Given the description of an element on the screen output the (x, y) to click on. 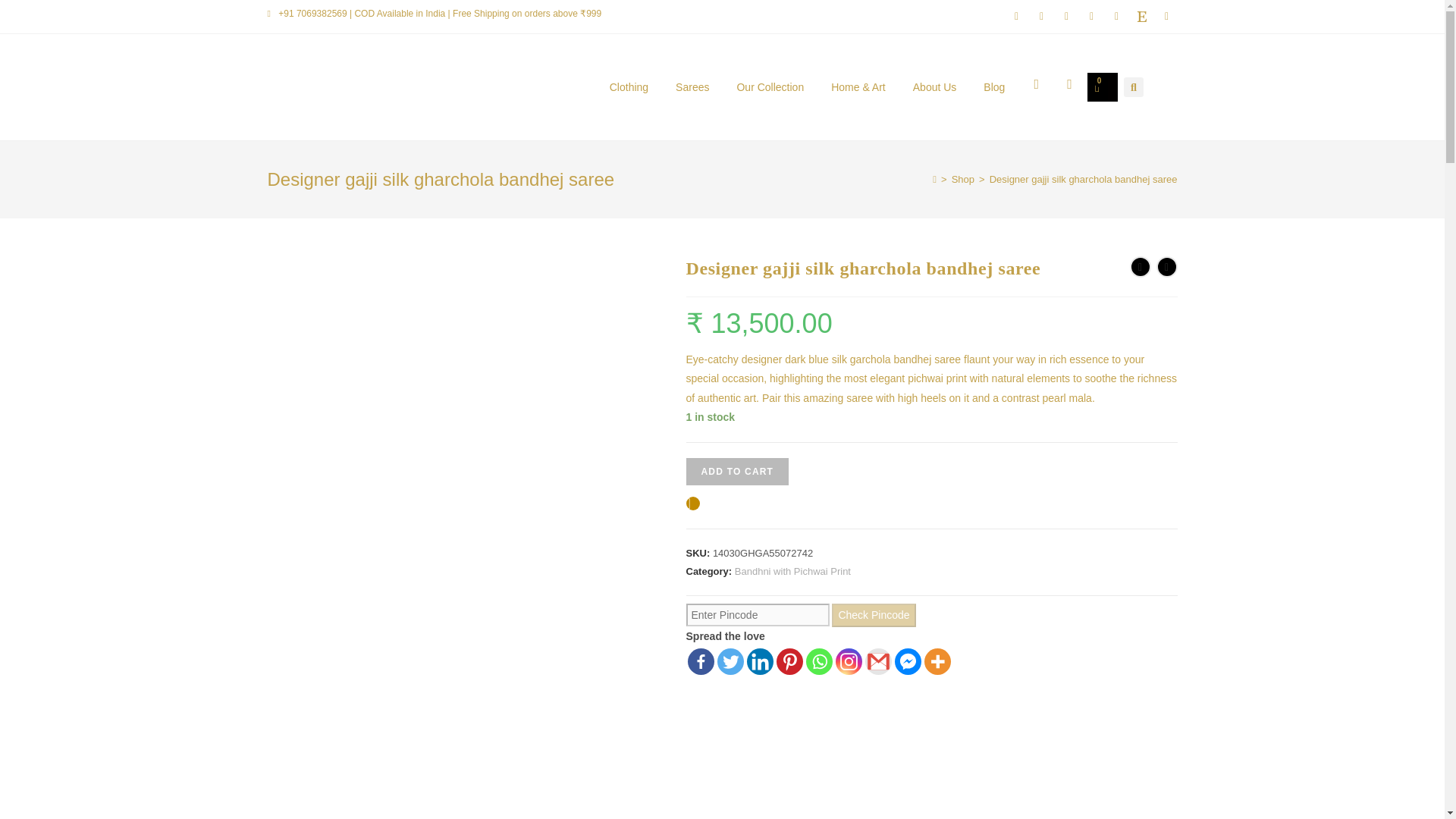
Twitter (730, 661)
Whatsapp (818, 661)
Google Gmail (877, 661)
Linkedin (759, 661)
Pinterest (789, 661)
Instagram (848, 661)
Clothing (628, 86)
Facebook (700, 661)
